Given the description of an element on the screen output the (x, y) to click on. 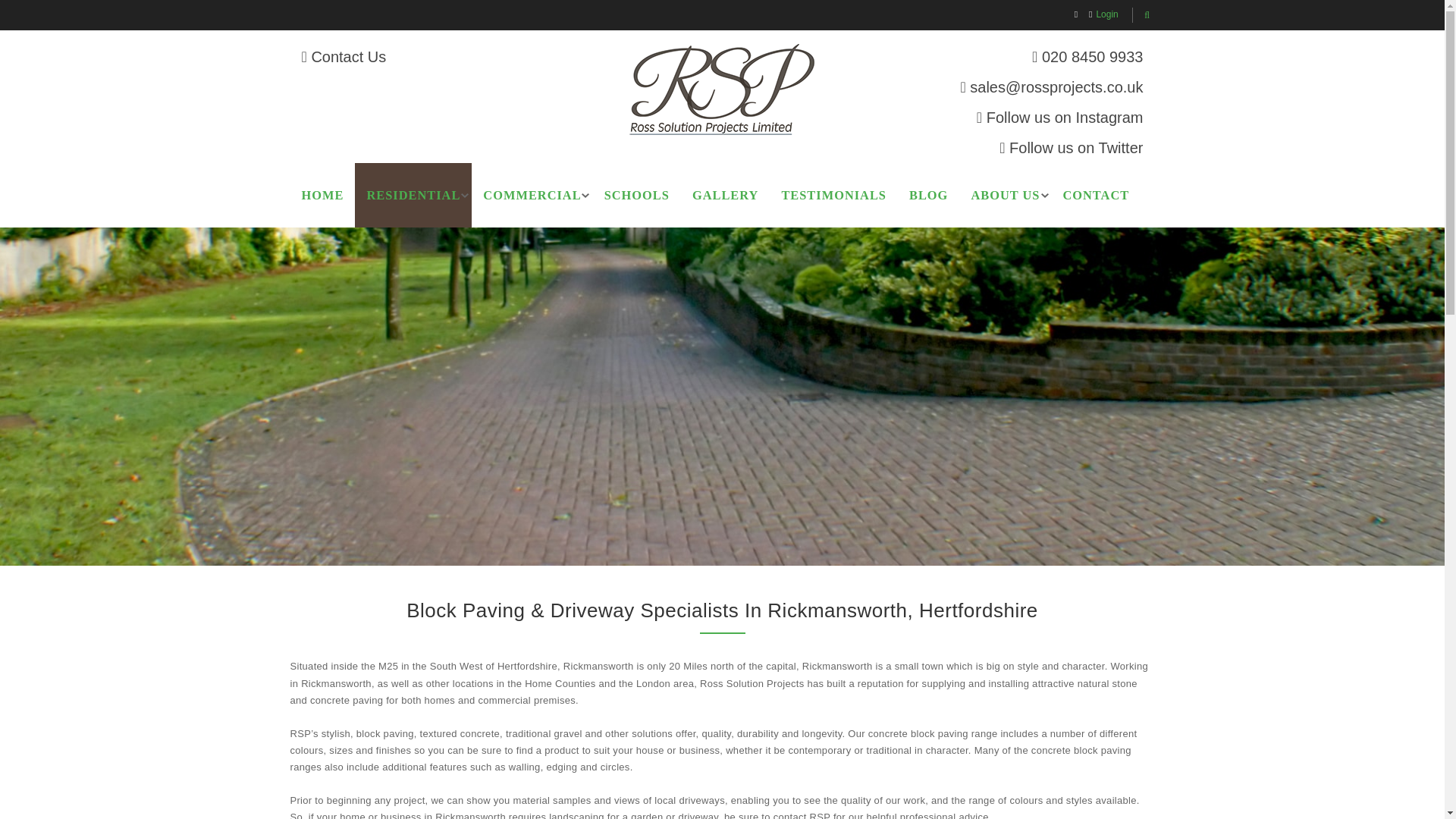
RESIDENTIAL (413, 194)
Login (1107, 14)
Follow us on Twitter (1075, 147)
TESTIMONIALS (834, 194)
CONTACT (1095, 194)
Search (1146, 14)
Contact Us (348, 56)
Login (1107, 14)
HOME (322, 194)
Follow us on Instagram (1064, 117)
020 8450 9933 (1092, 56)
COMMERCIAL (531, 194)
ABOUT US (1005, 194)
GALLERY (725, 194)
SCHOOLS (636, 194)
